Given the description of an element on the screen output the (x, y) to click on. 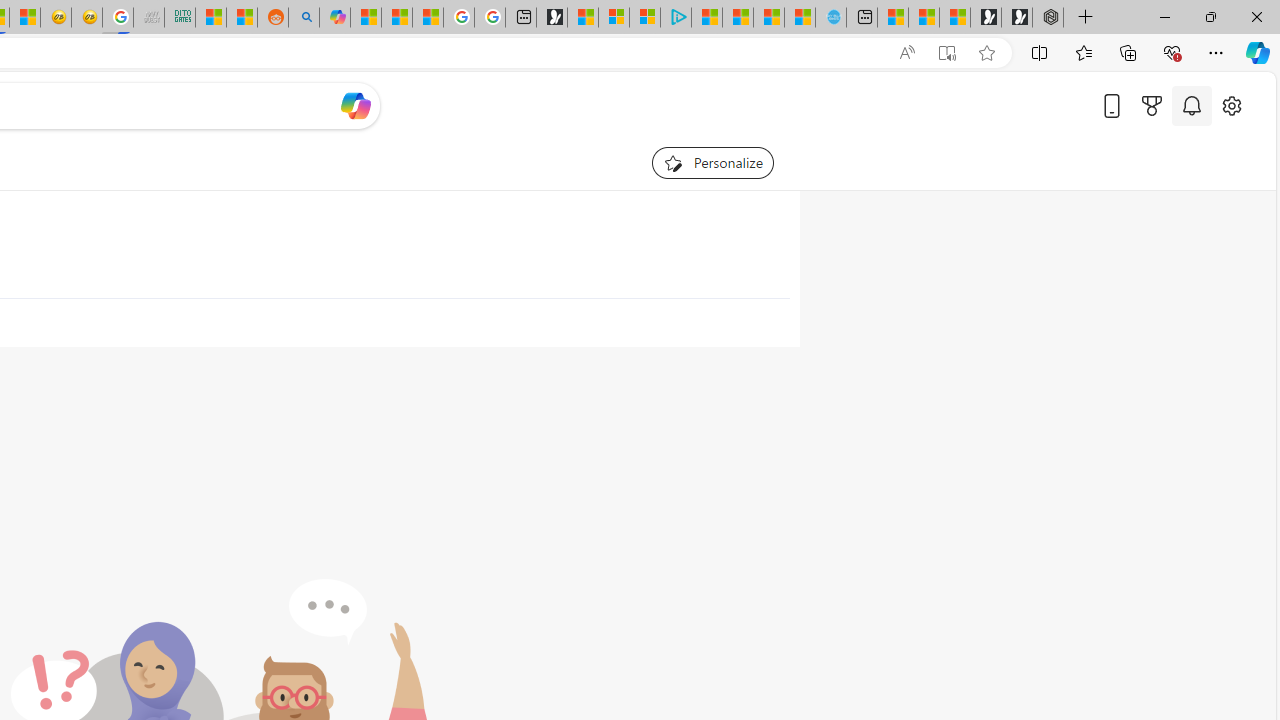
Open settings (1231, 105)
Utah sues federal government - Search (303, 17)
Navy Quest (148, 17)
DITOGAMES AG Imprint (179, 17)
Browser essentials (1171, 52)
Copilot (Ctrl+Shift+.) (1258, 52)
New Tab (1085, 17)
Collections (1128, 52)
Microsoft Start Gaming (551, 17)
Restore (1210, 16)
